Given the description of an element on the screen output the (x, y) to click on. 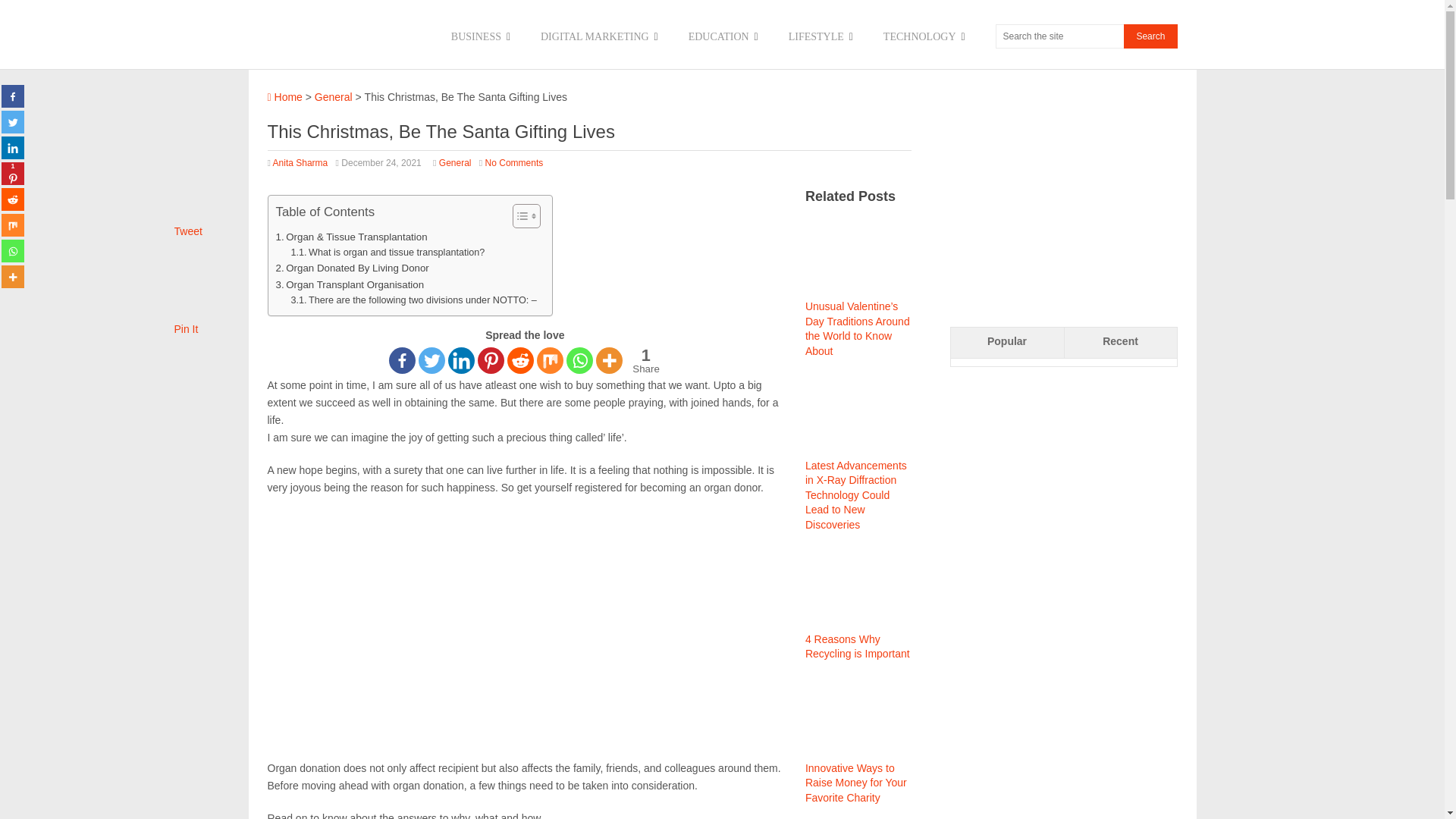
Total Shares (645, 360)
Linkedin (461, 360)
Organ Donated By Living Donor (352, 268)
More (609, 360)
Whatsapp (579, 360)
Search (1150, 36)
BUSINESS (481, 36)
Facebook (401, 360)
Mix (550, 360)
Twitter (432, 360)
